Given the description of an element on the screen output the (x, y) to click on. 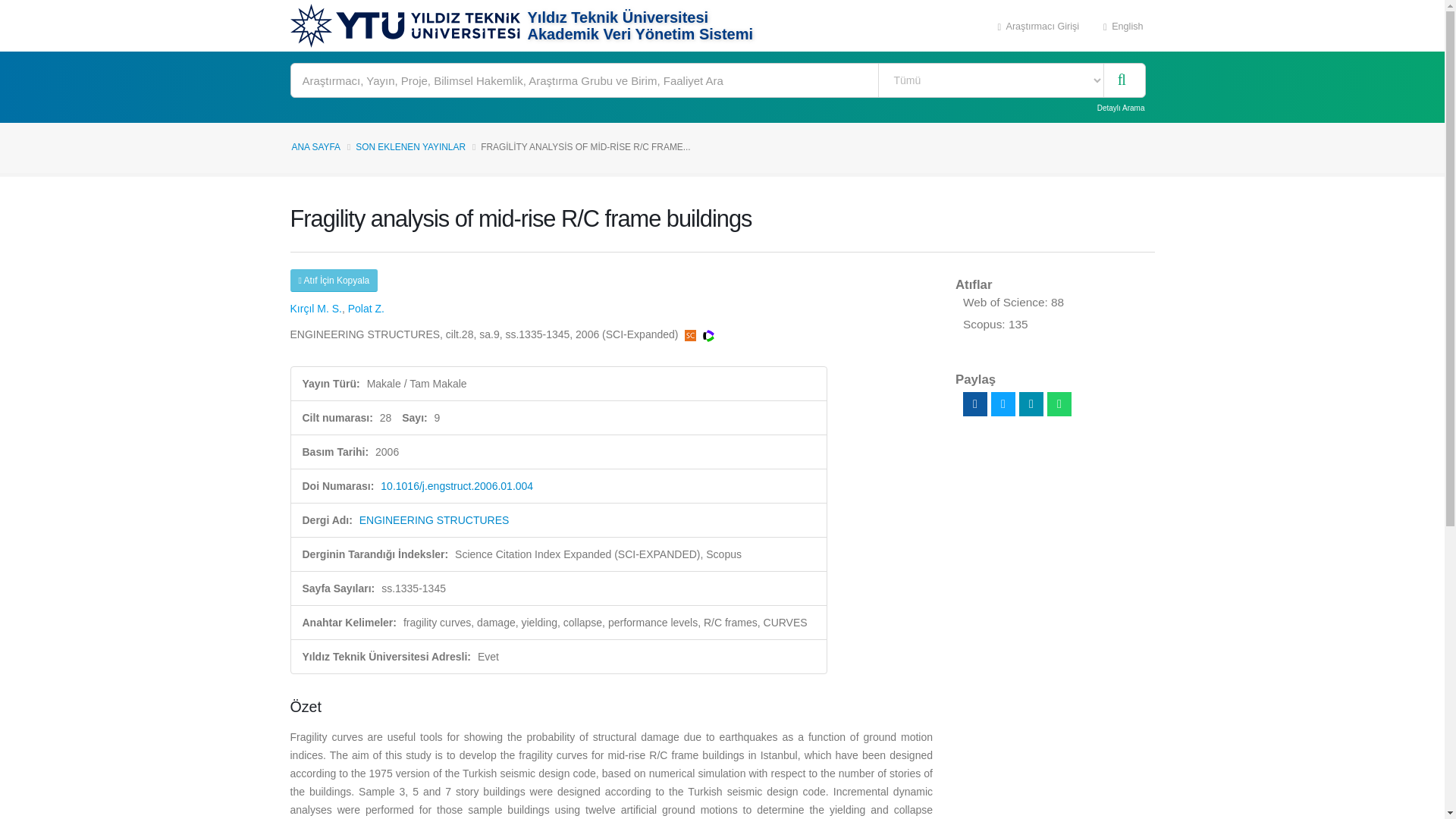
ENGINEERING STRUCTURES (434, 520)
Polat Z. (365, 308)
English (1123, 26)
ANA SAYFA (315, 146)
SON EKLENEN YAYINLAR (410, 146)
